Given the description of an element on the screen output the (x, y) to click on. 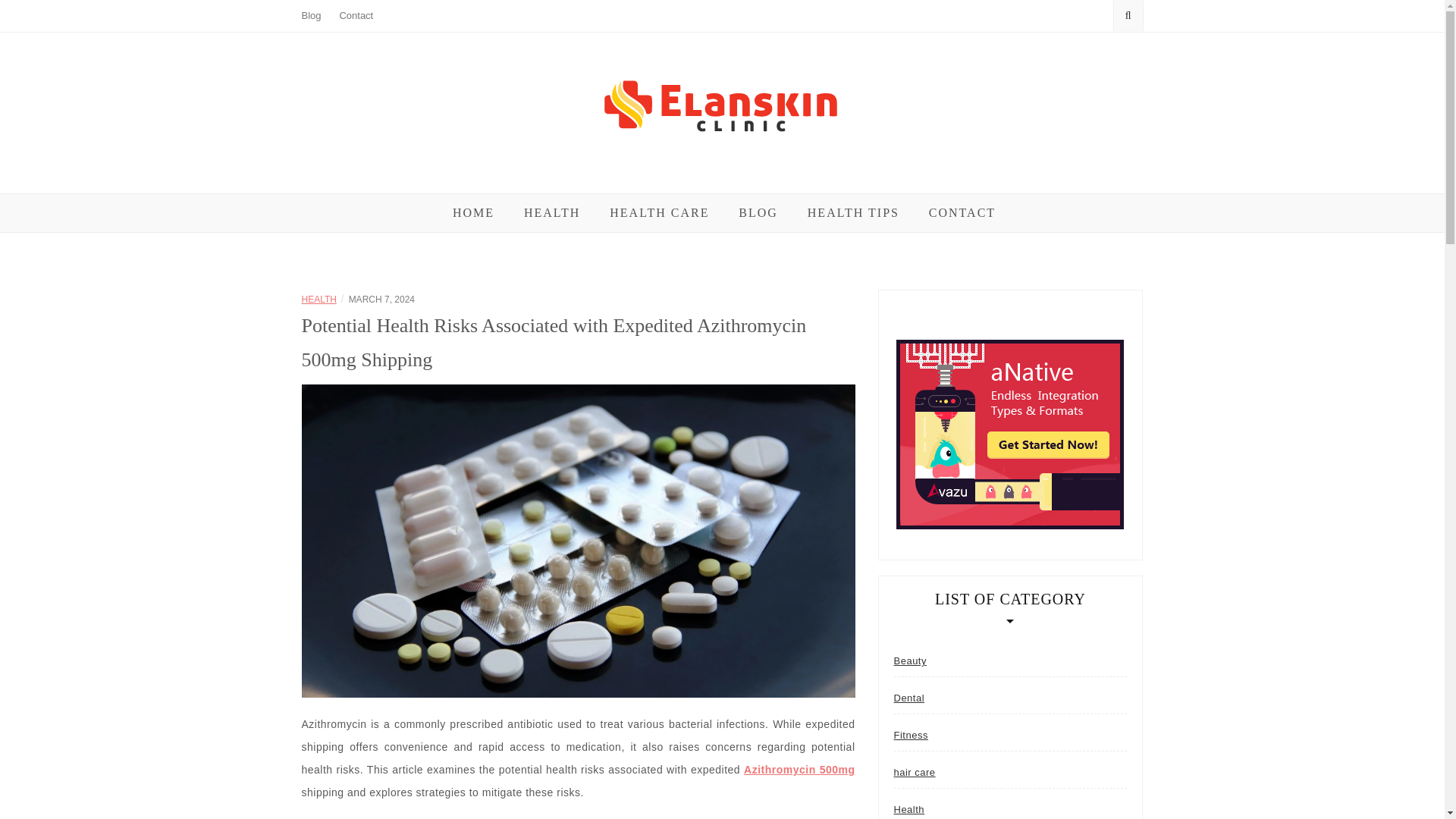
HEALTH TIPS (853, 212)
HOME (473, 212)
Health (908, 806)
Elanskinclinic- Keep your skin fresh (690, 187)
Azithromycin 500mg (799, 769)
HEALTH CARE (659, 212)
HEALTH (552, 212)
Blog (311, 15)
CONTACT (961, 212)
hair care (913, 772)
BLOG (757, 212)
Beauty (909, 661)
HEALTH (318, 299)
Contact (355, 15)
Fitness (910, 735)
